Given the description of an element on the screen output the (x, y) to click on. 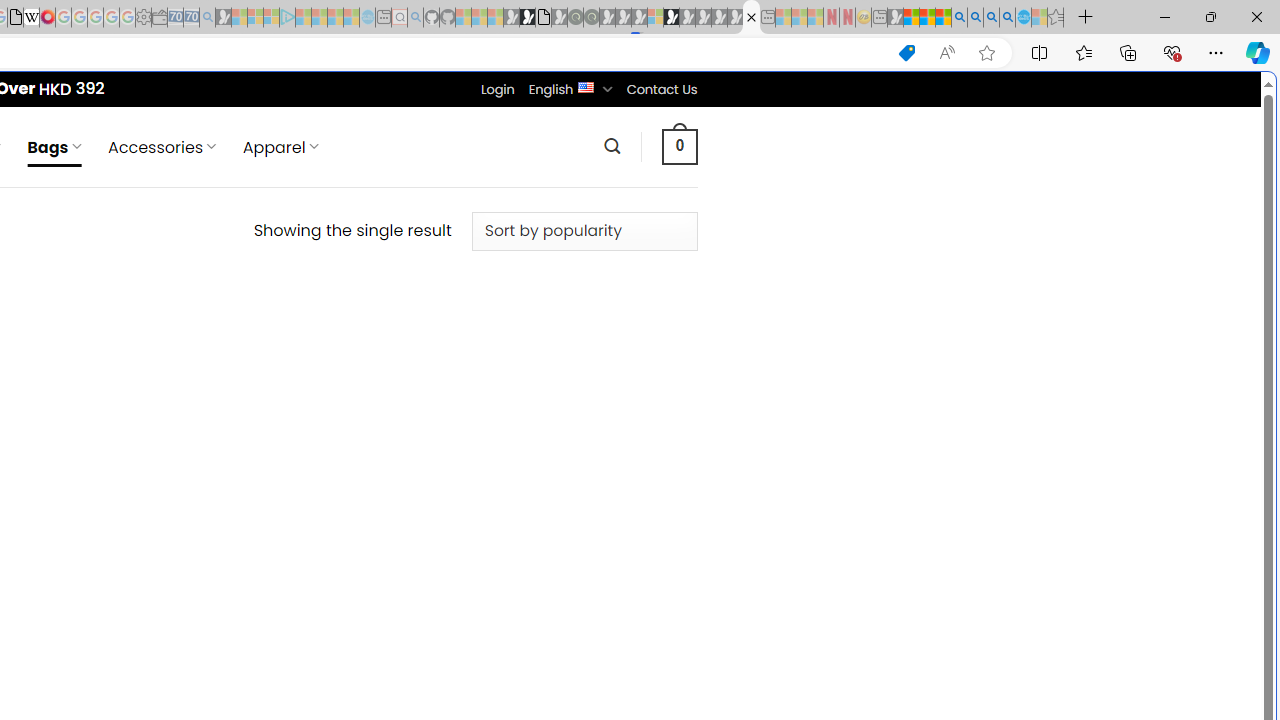
  0   (679, 146)
MediaWiki (47, 17)
Contact Us (661, 89)
Target page - Wikipedia (31, 17)
